Given the description of an element on the screen output the (x, y) to click on. 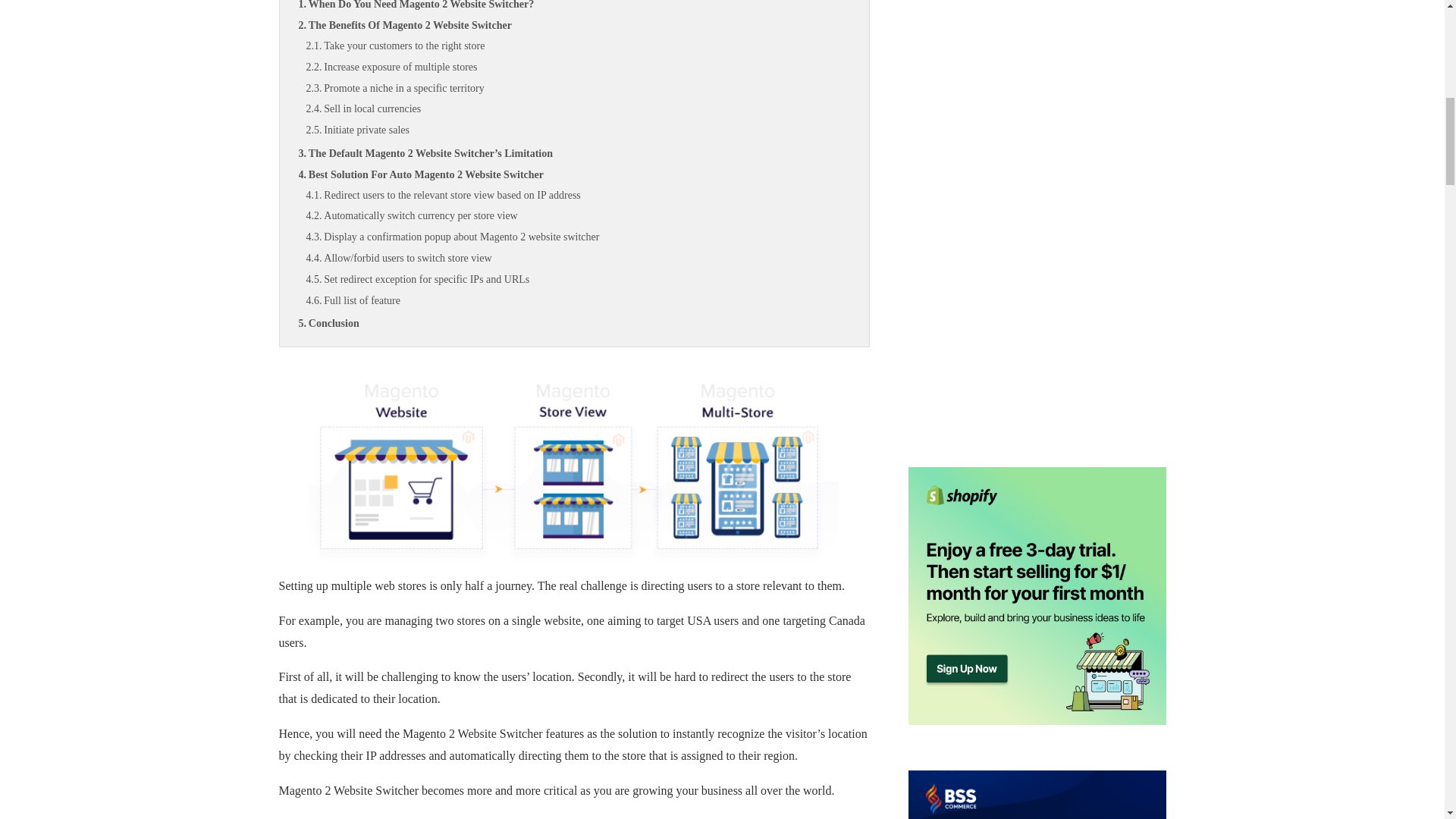
Initiate private sales (577, 130)
Sell in local currencies (577, 108)
Automatically switch currency per store view (577, 216)
The Benefits Of Magento 2 Website Switcher (574, 25)
Increase exposure of multiple stores (577, 66)
Automatically switch currency per store view (577, 216)
Take your customers to the right store (577, 46)
Best Solution For Auto Magento 2 Website Switcher (574, 175)
Increase exposure of multiple stores (577, 66)
Sell in local currencies (577, 108)
Best Solution For Auto Magento 2 Website Switcher (574, 175)
When Do You Need Magento 2 Website Switcher? (574, 7)
Initiate private sales (577, 130)
